Given the description of an element on the screen output the (x, y) to click on. 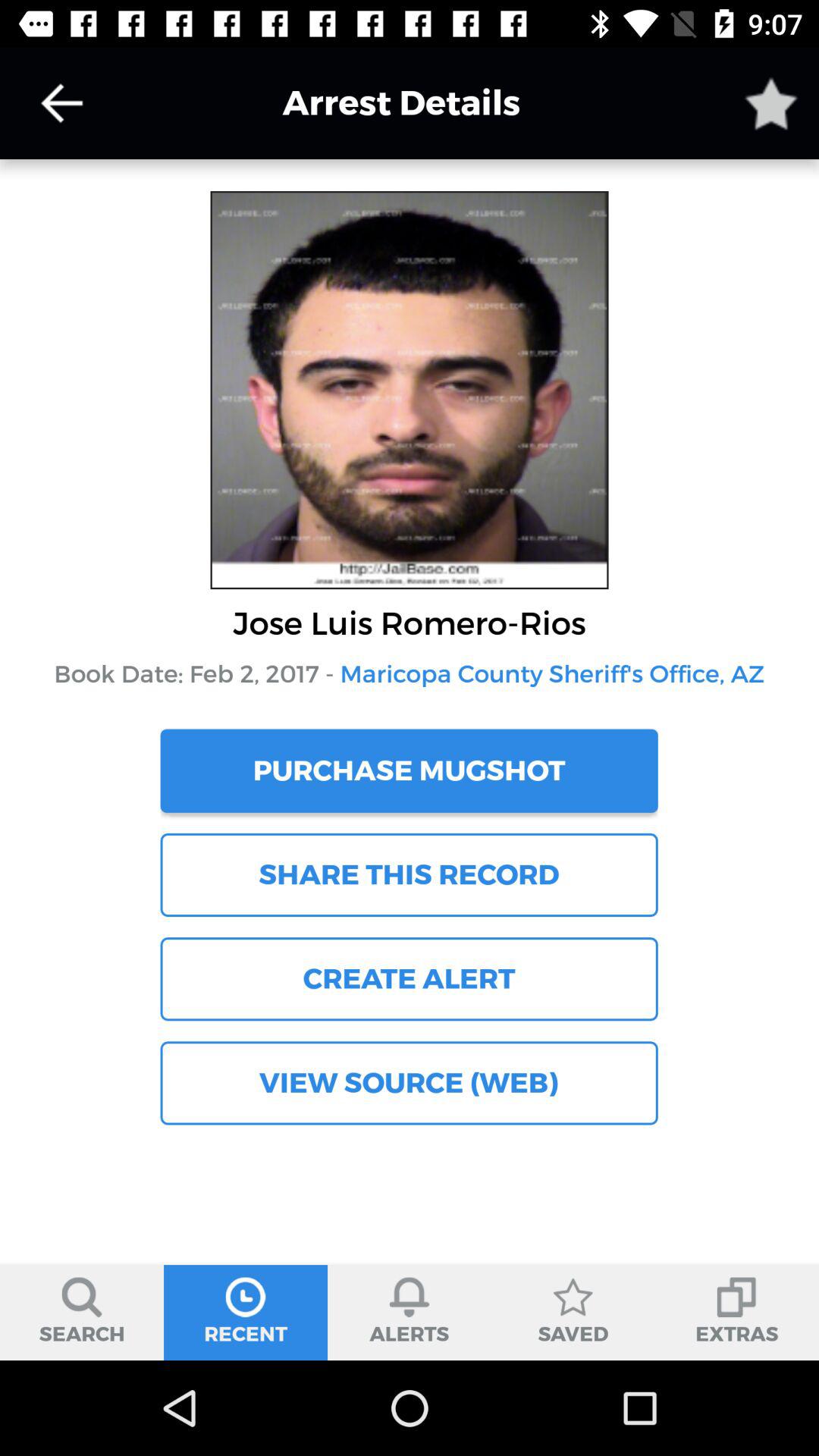
add to saved (771, 103)
